Given the description of an element on the screen output the (x, y) to click on. 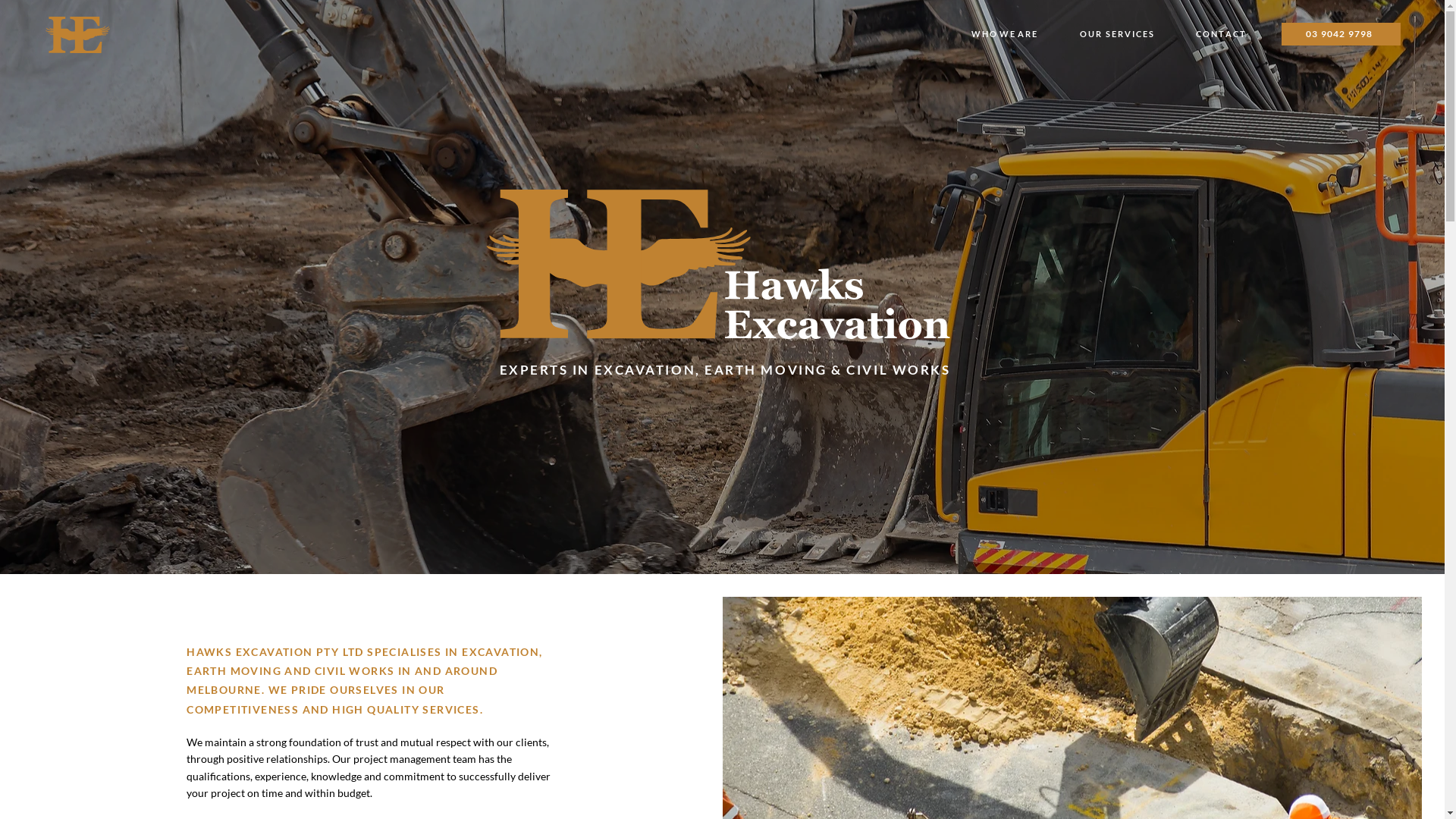
C O N T A C T Element type: text (1220, 33)
03 9042 9798 Element type: text (1340, 33)
W H O  W E  A R E Element type: text (1003, 33)
O U R   S E R V I C E S Element type: text (1115, 33)
